Given the description of an element on the screen output the (x, y) to click on. 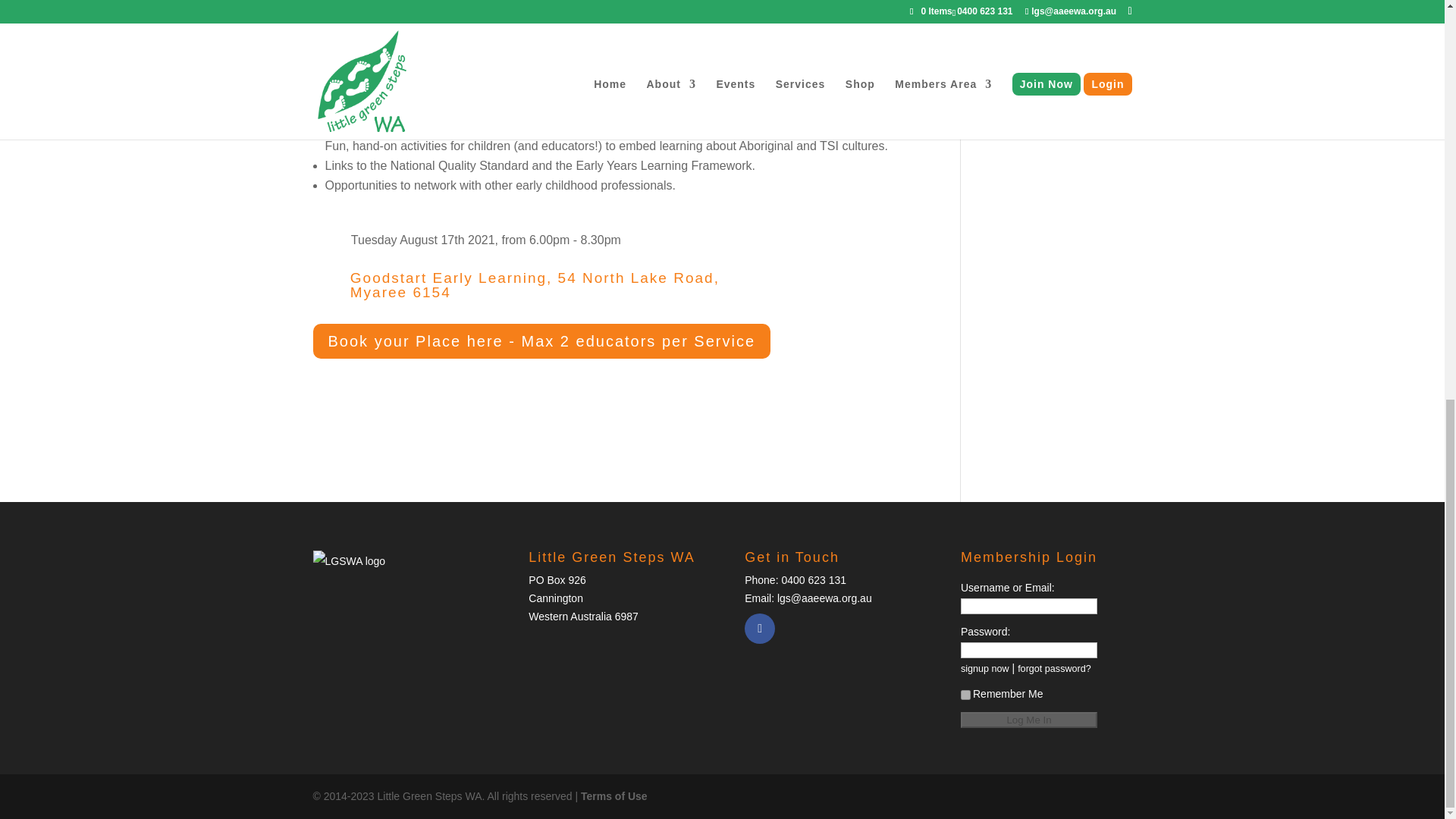
forever (965, 695)
Log Me In (1028, 719)
Book your Place here - Max 2 educators per Service (541, 340)
Password (1028, 650)
Username (1028, 606)
